Given the description of an element on the screen output the (x, y) to click on. 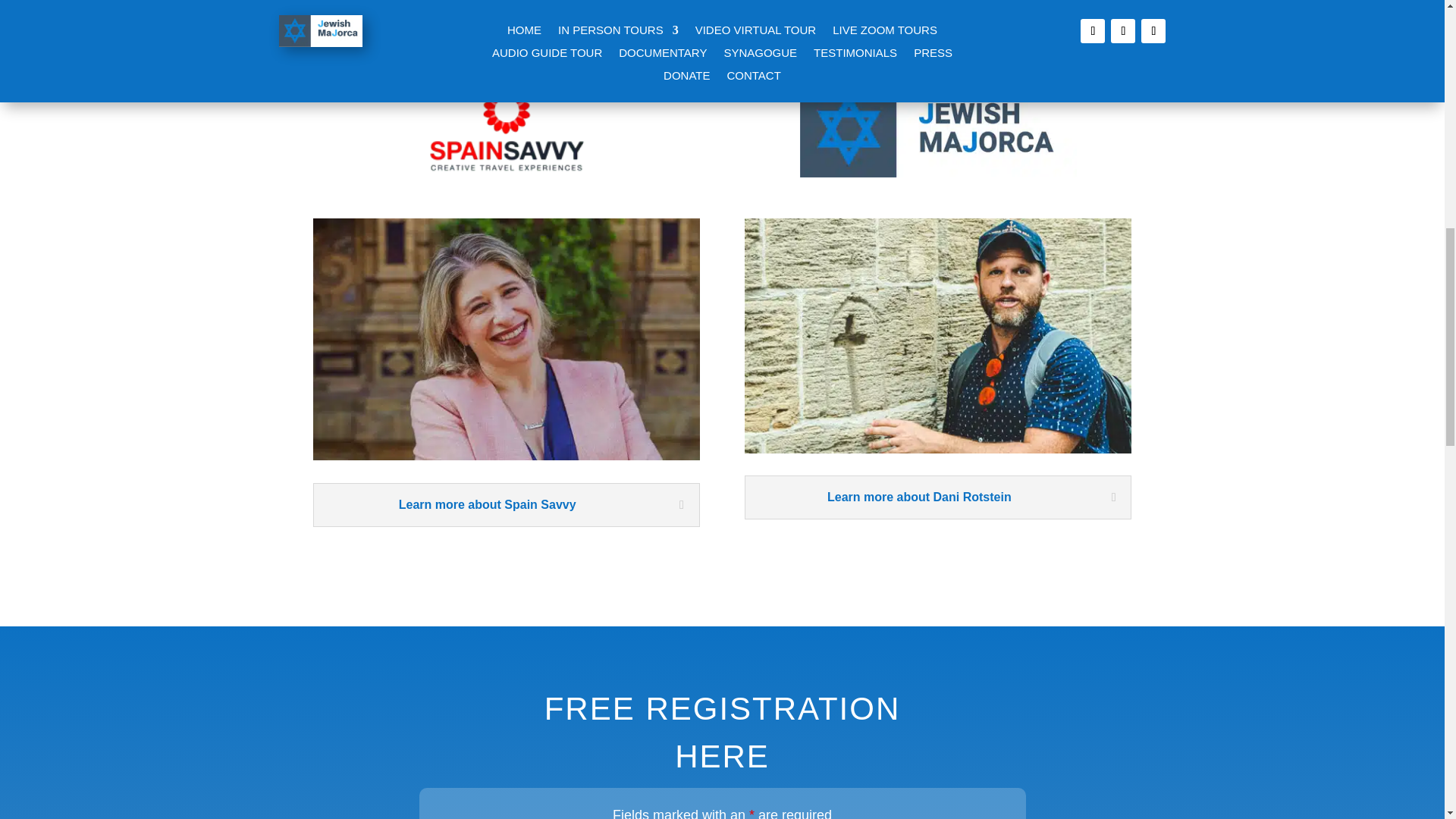
dani-sinagoga-nova (937, 449)
logo-jm (938, 173)
spain-savvy (506, 173)
savvy (505, 456)
